Given the description of an element on the screen output the (x, y) to click on. 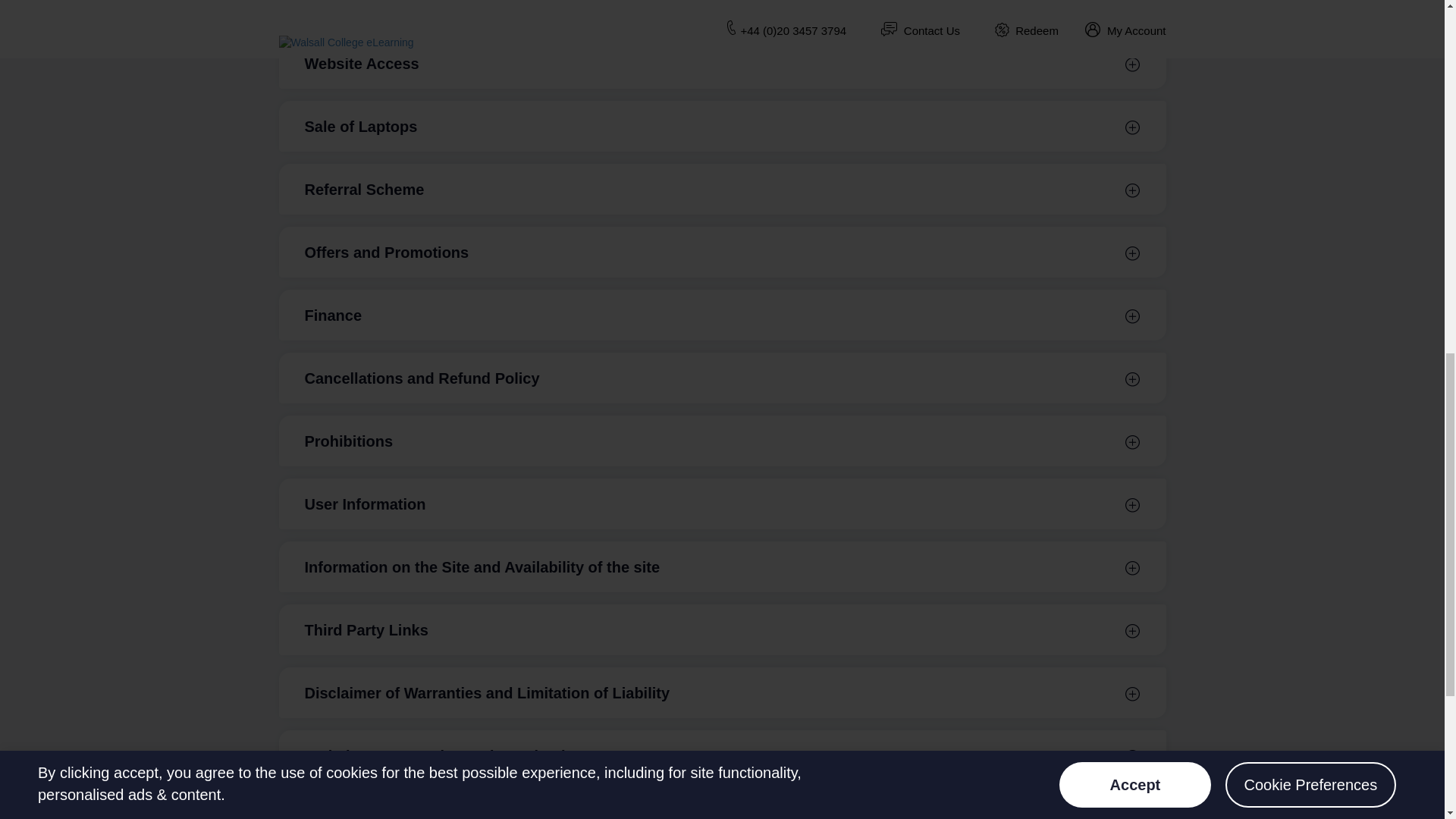
Finance (721, 314)
Prohibitions (721, 441)
User Information (721, 503)
Offers and Promotions (721, 251)
Referral Scheme (721, 188)
Website Access (721, 62)
Sale of Laptops (721, 125)
Cancellations and Refund Policy (721, 377)
